Given the description of an element on the screen output the (x, y) to click on. 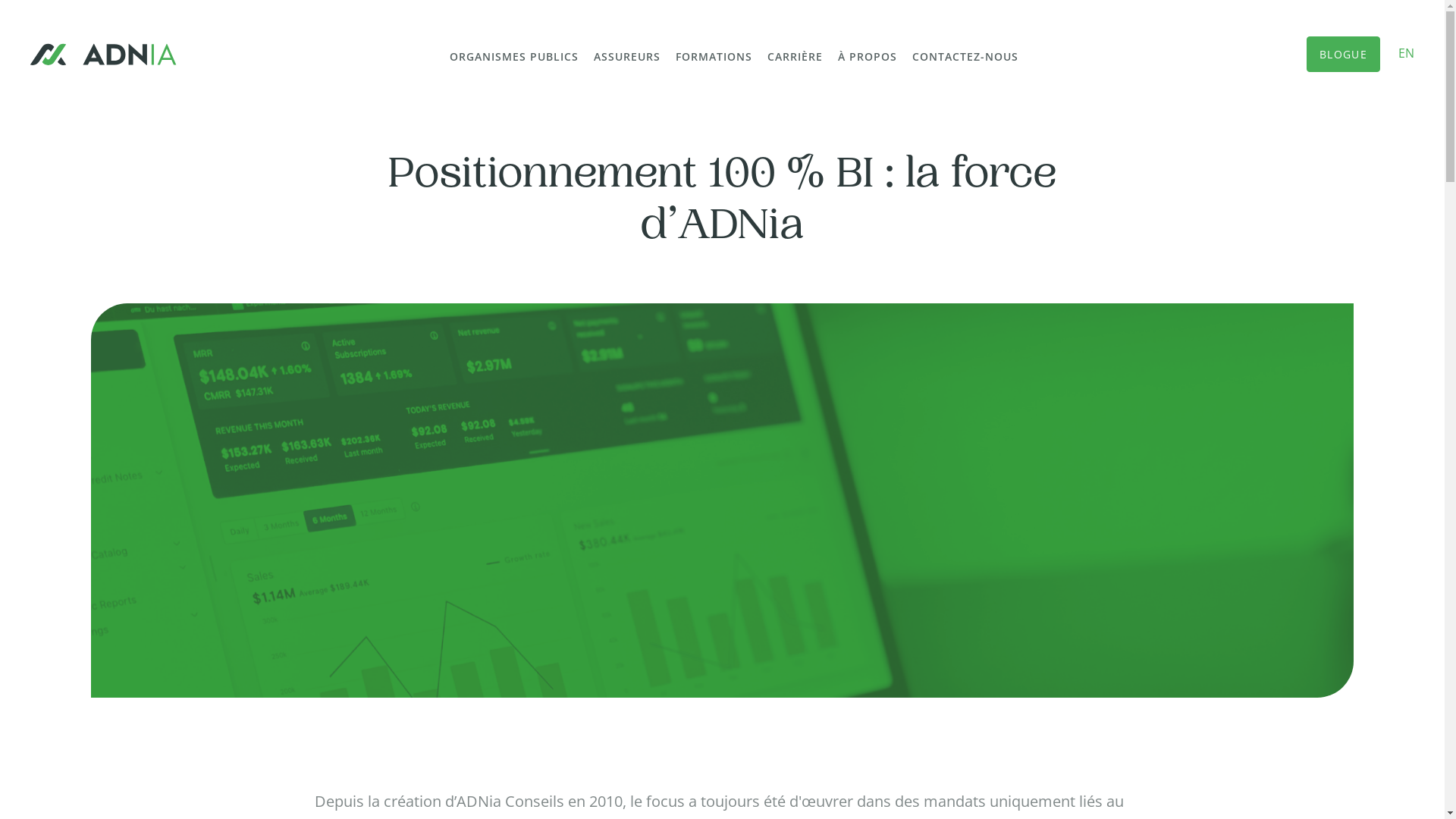
FORMATIONS Element type: text (713, 56)
BLOGUE Element type: text (1343, 54)
ASSUREURS Element type: text (626, 56)
CONTACTEZ-NOUS Element type: text (965, 56)
ORGANISMES PUBLICS Element type: text (513, 56)
EN Element type: text (1406, 52)
